Given the description of an element on the screen output the (x, y) to click on. 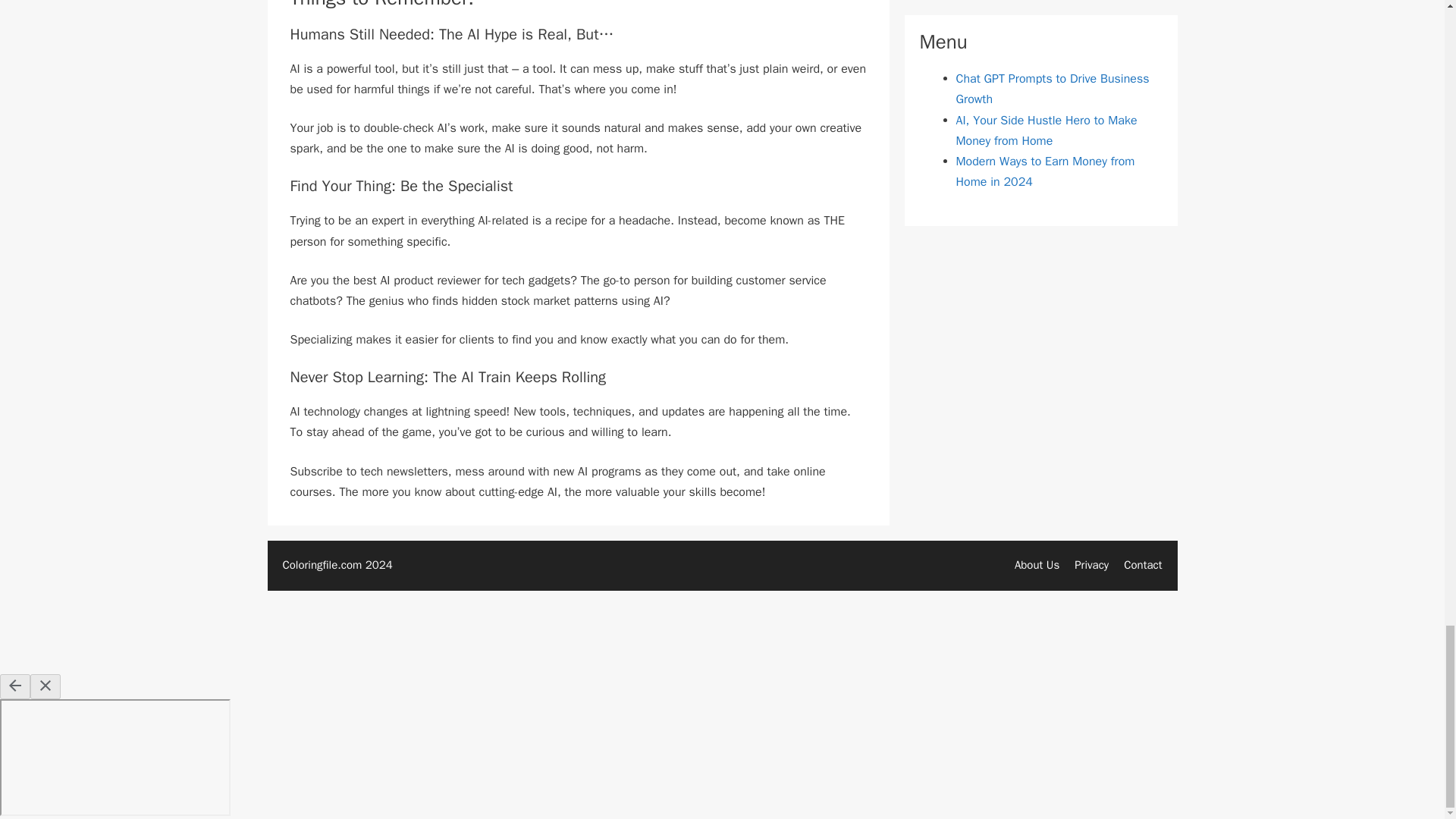
Privacy (1091, 564)
About Us (1036, 564)
Contact (1142, 564)
